Given the description of an element on the screen output the (x, y) to click on. 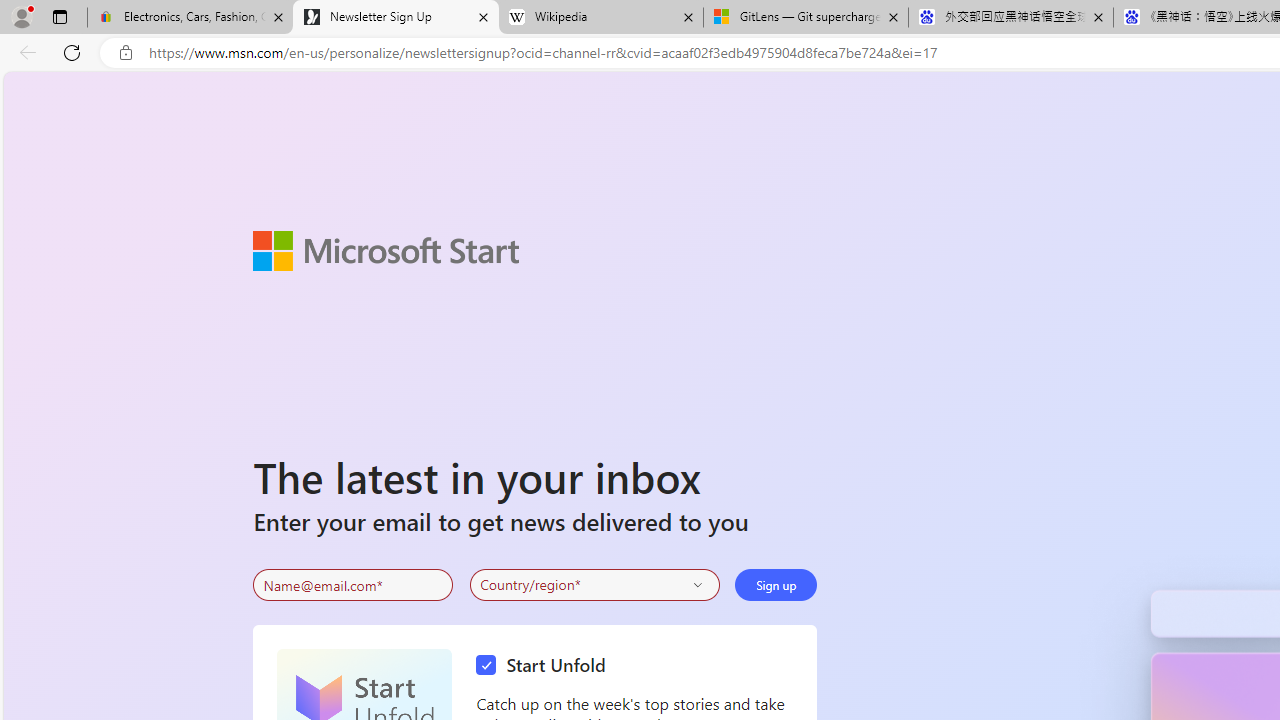
Electronics, Cars, Fashion, Collectibles & More | eBay (190, 17)
